Given the description of an element on the screen output the (x, y) to click on. 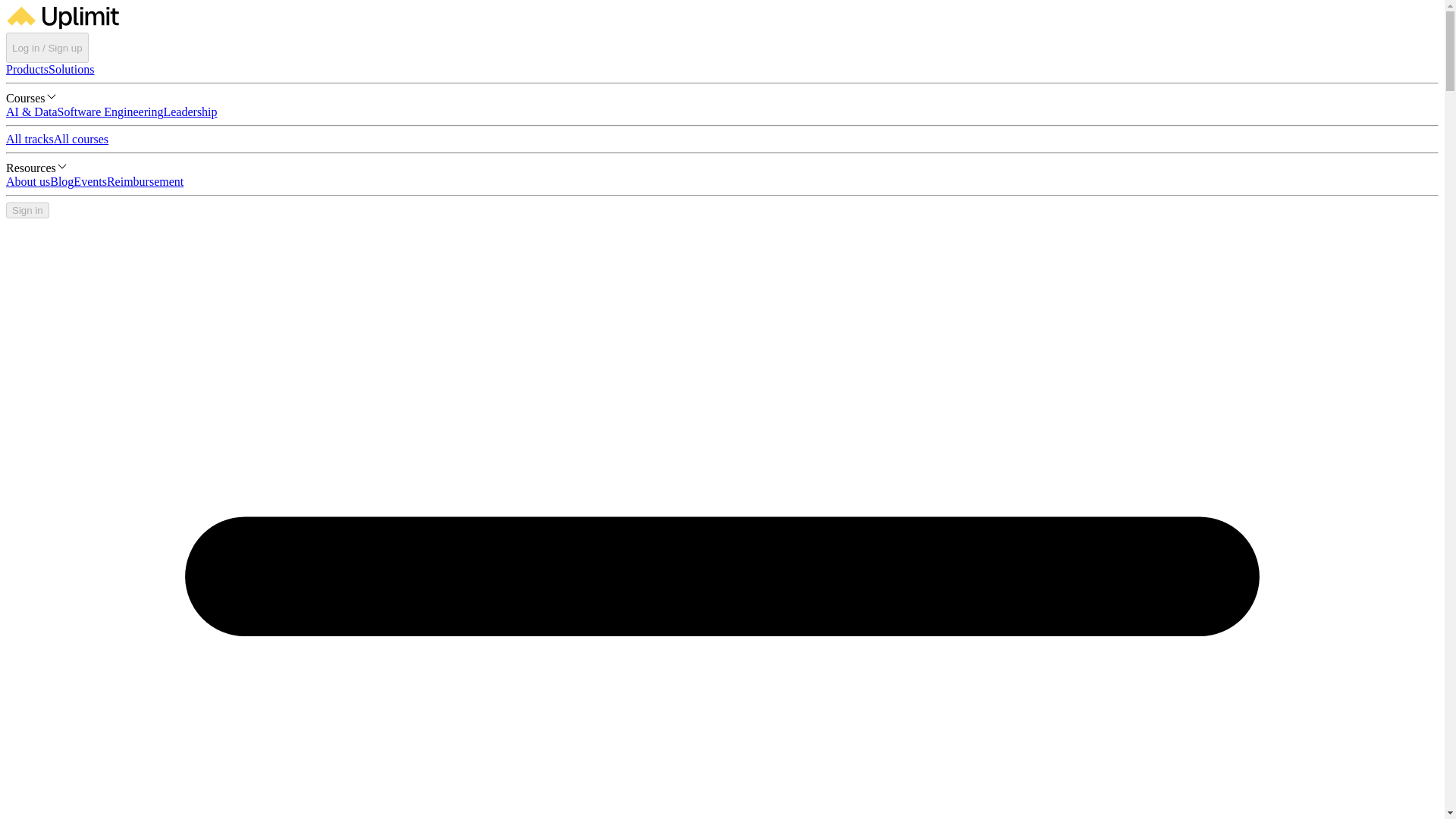
About us (27, 181)
All tracks (29, 138)
Solutions (71, 69)
Blog (61, 181)
Events (90, 181)
Leadership (189, 111)
Reimbursement (144, 181)
Sign in (27, 210)
All courses (80, 138)
Products (26, 69)
